Given the description of an element on the screen output the (x, y) to click on. 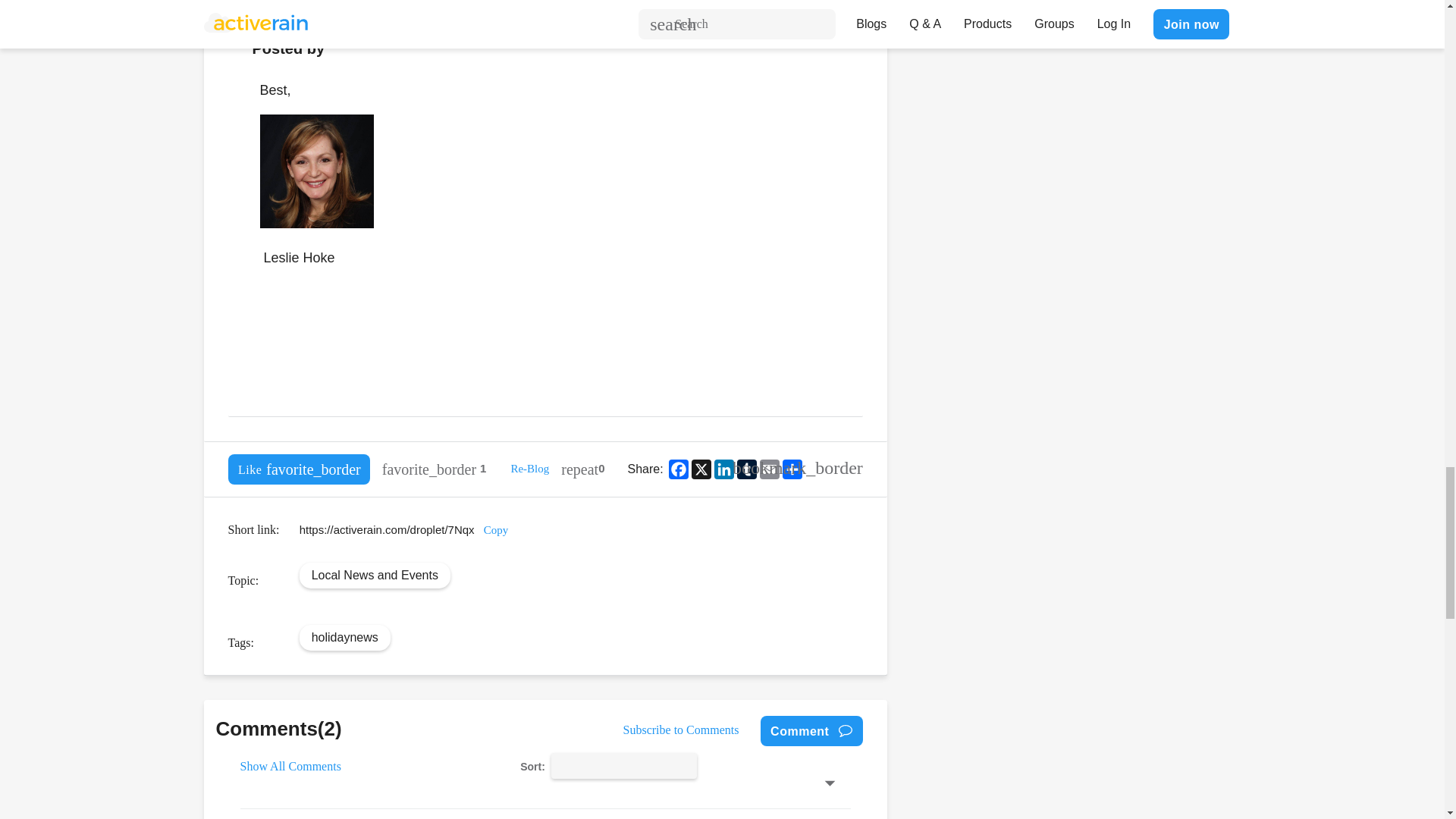
repeat 0 (582, 469)
Copy (495, 530)
holidaynews (344, 636)
Email (769, 469)
Tumblr (746, 469)
Re-Blog (529, 468)
Local News and Events (374, 574)
LinkedIn (724, 469)
Facebook (678, 469)
X (701, 469)
